Given the description of an element on the screen output the (x, y) to click on. 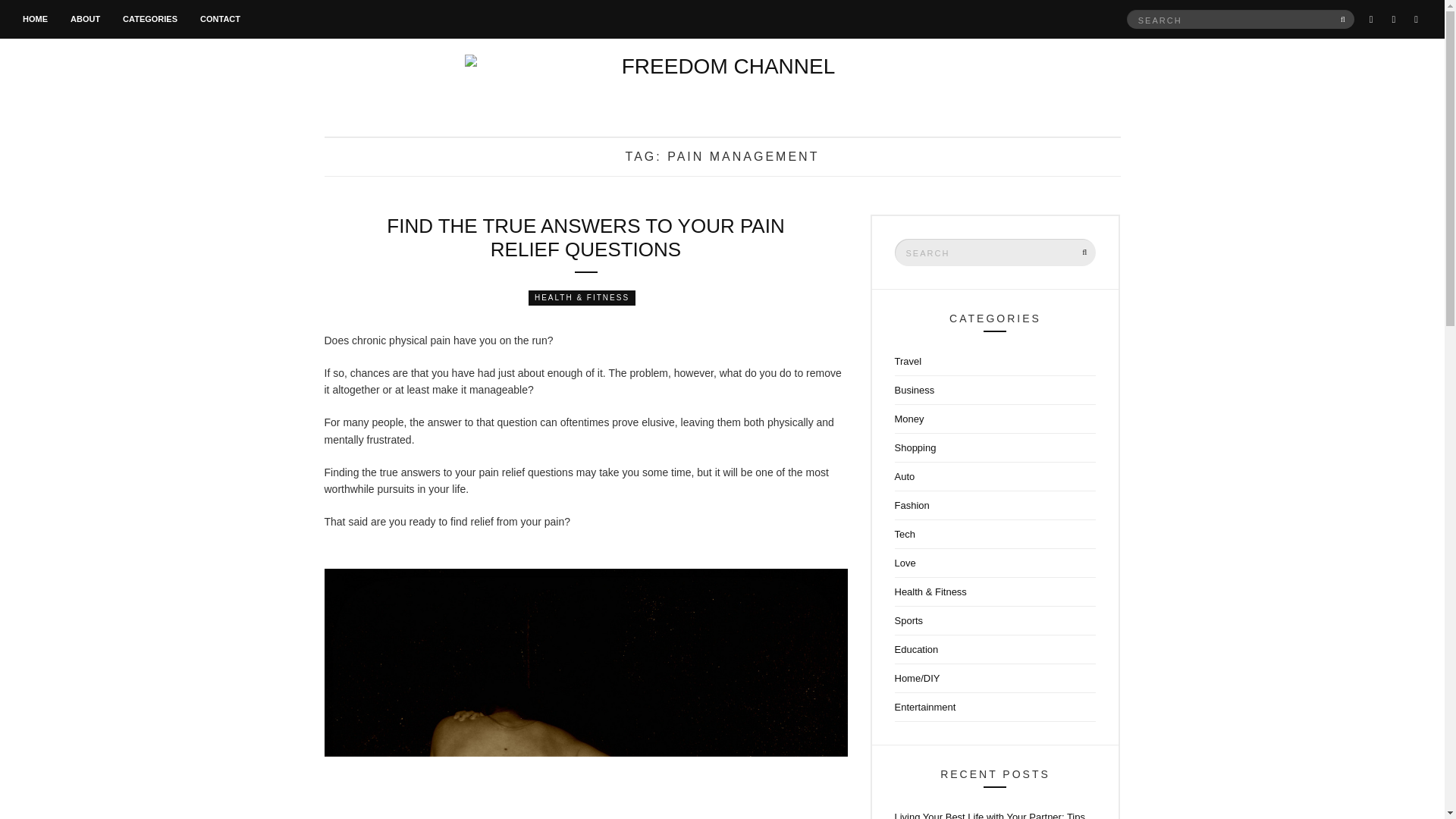
Business (995, 389)
FIND THE TRUE ANSWERS TO YOUR PAIN RELIEF QUESTIONS (585, 237)
Search (1343, 18)
Travel (995, 361)
Shopping (995, 448)
CONTACT (220, 19)
Money (995, 419)
HOME (35, 19)
ABOUT (84, 19)
CATEGORIES (149, 19)
